Given the description of an element on the screen output the (x, y) to click on. 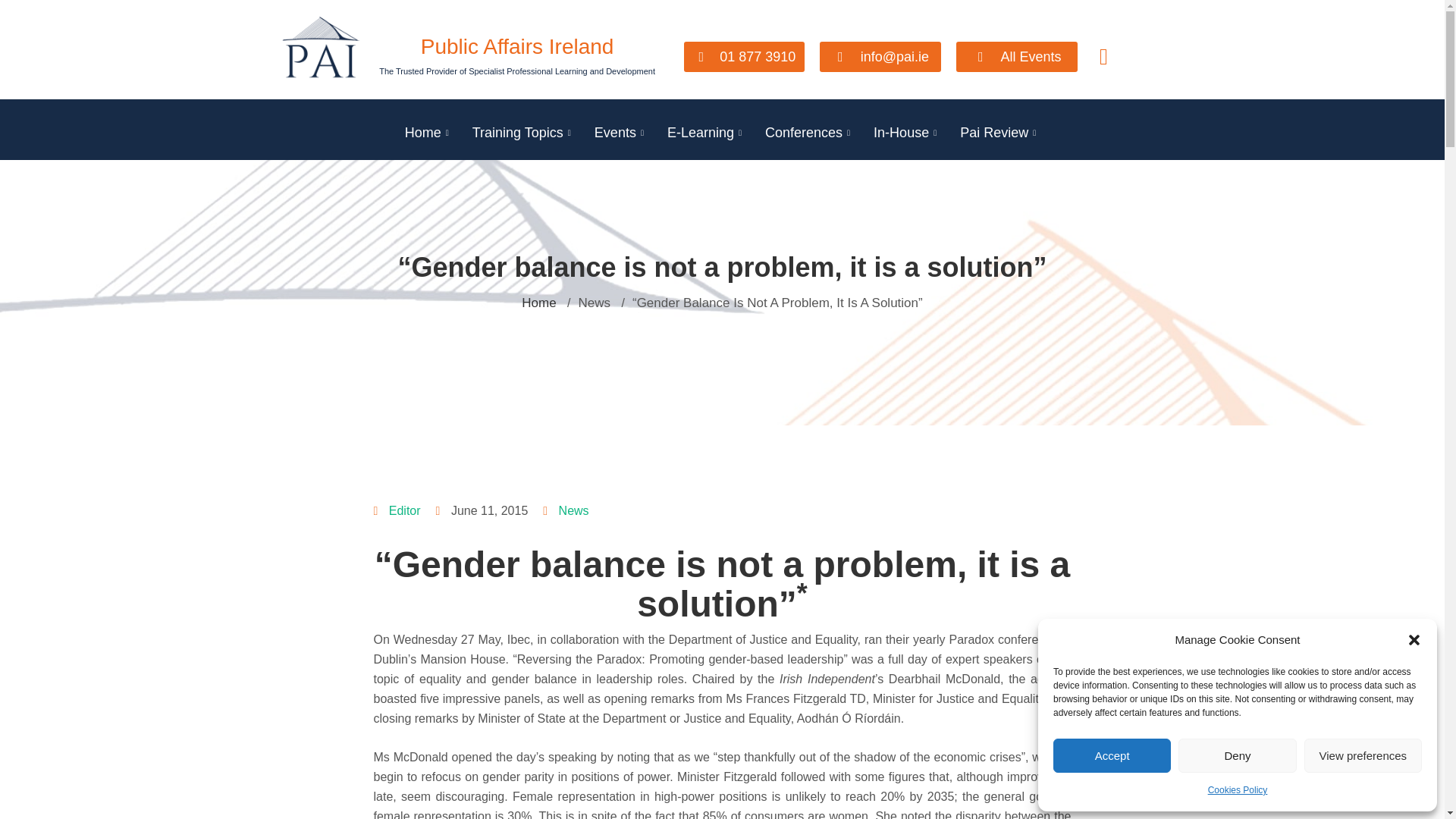
All Events (1016, 56)
View preferences (1363, 755)
01 877 3910 (744, 56)
Deny (1236, 755)
Accept (1111, 755)
Cookies Policy (1238, 790)
